Given the description of an element on the screen output the (x, y) to click on. 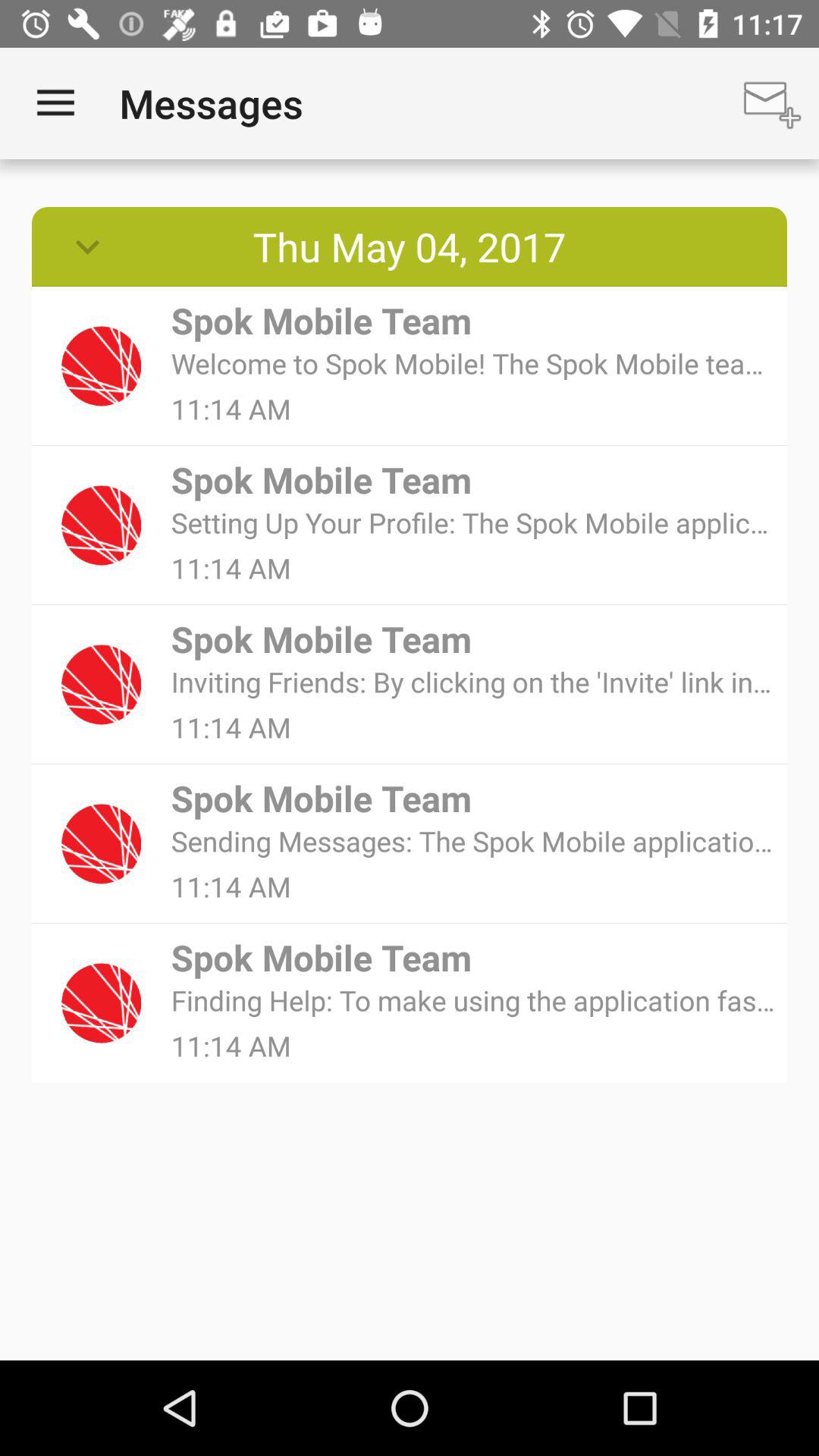
tap icon below the spok mobile team item (473, 681)
